Given the description of an element on the screen output the (x, y) to click on. 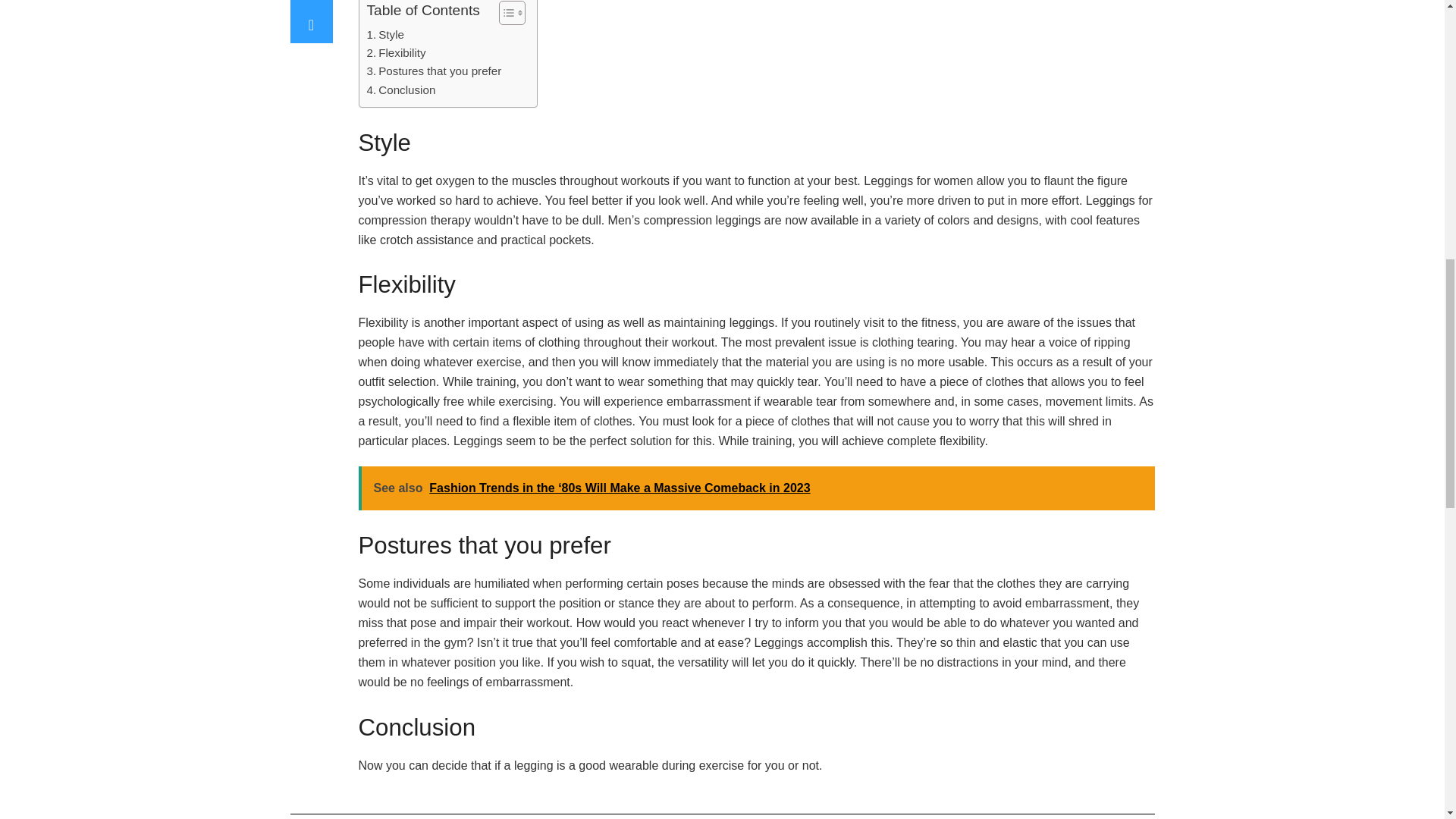
Conclusion (400, 90)
Flexibility (396, 53)
Postures that you prefer (434, 71)
Style (385, 34)
